Given the description of an element on the screen output the (x, y) to click on. 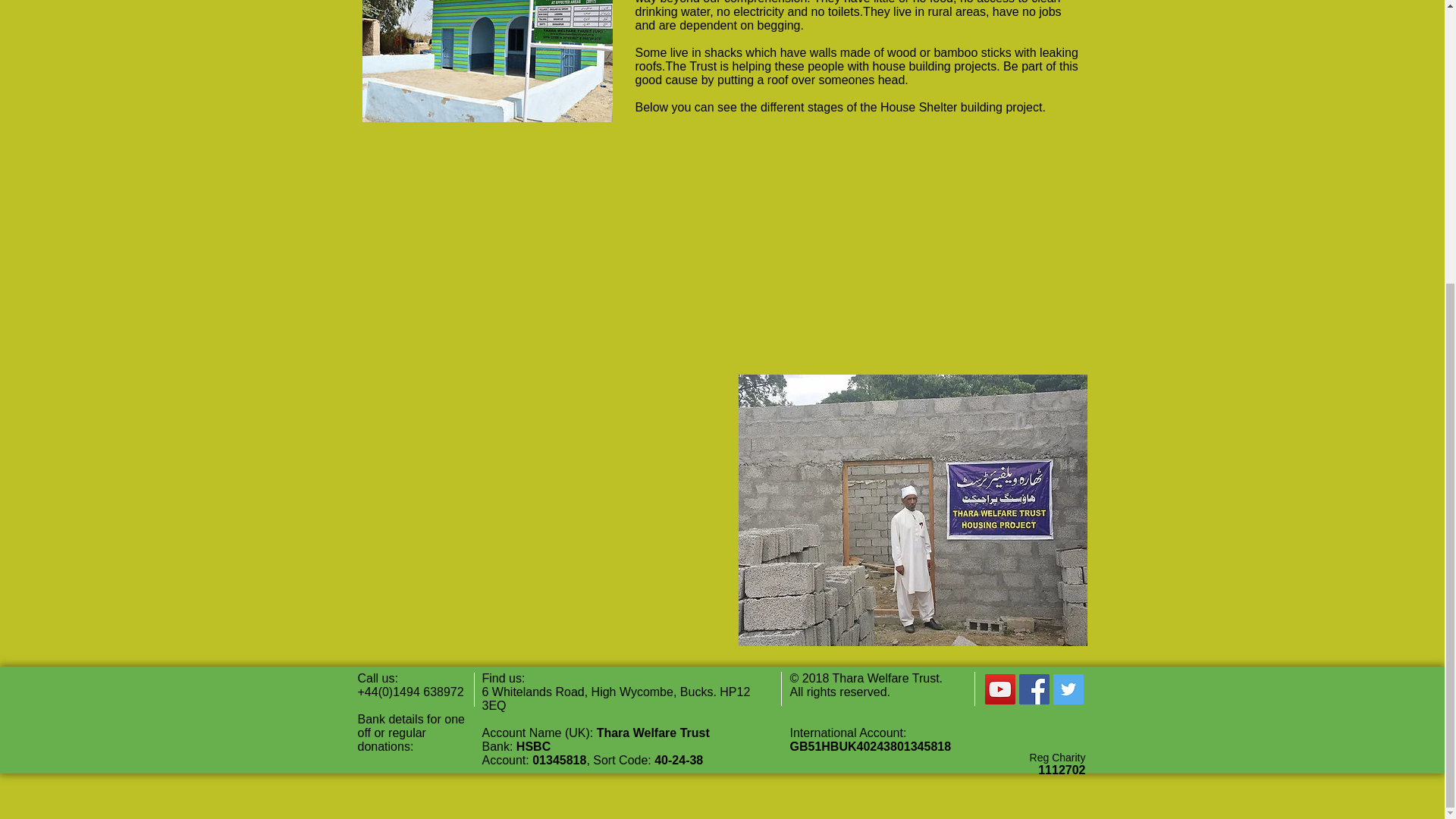
External YouTube (540, 510)
